Given the description of an element on the screen output the (x, y) to click on. 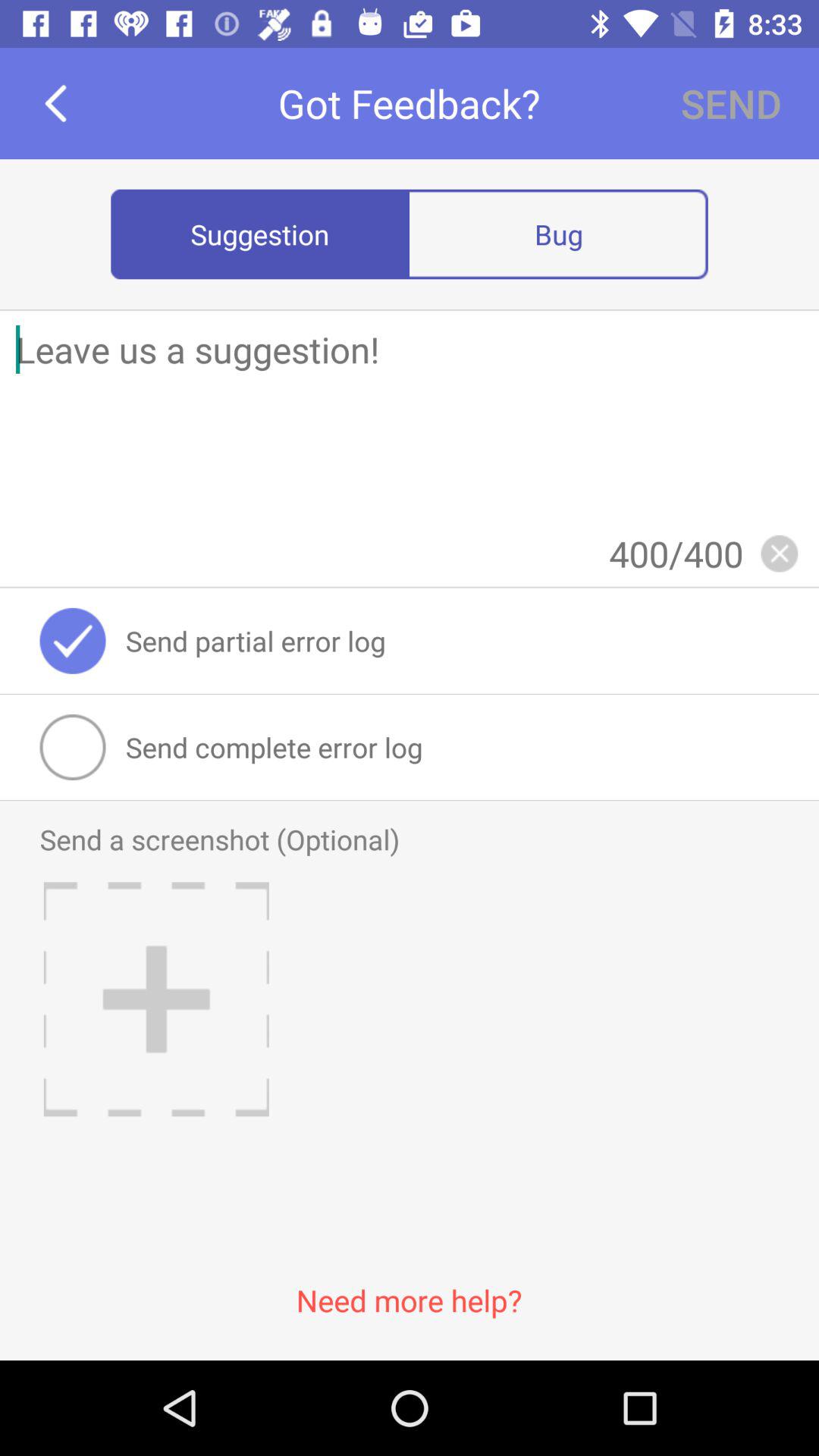
press item next to send complete error (72, 747)
